Given the description of an element on the screen output the (x, y) to click on. 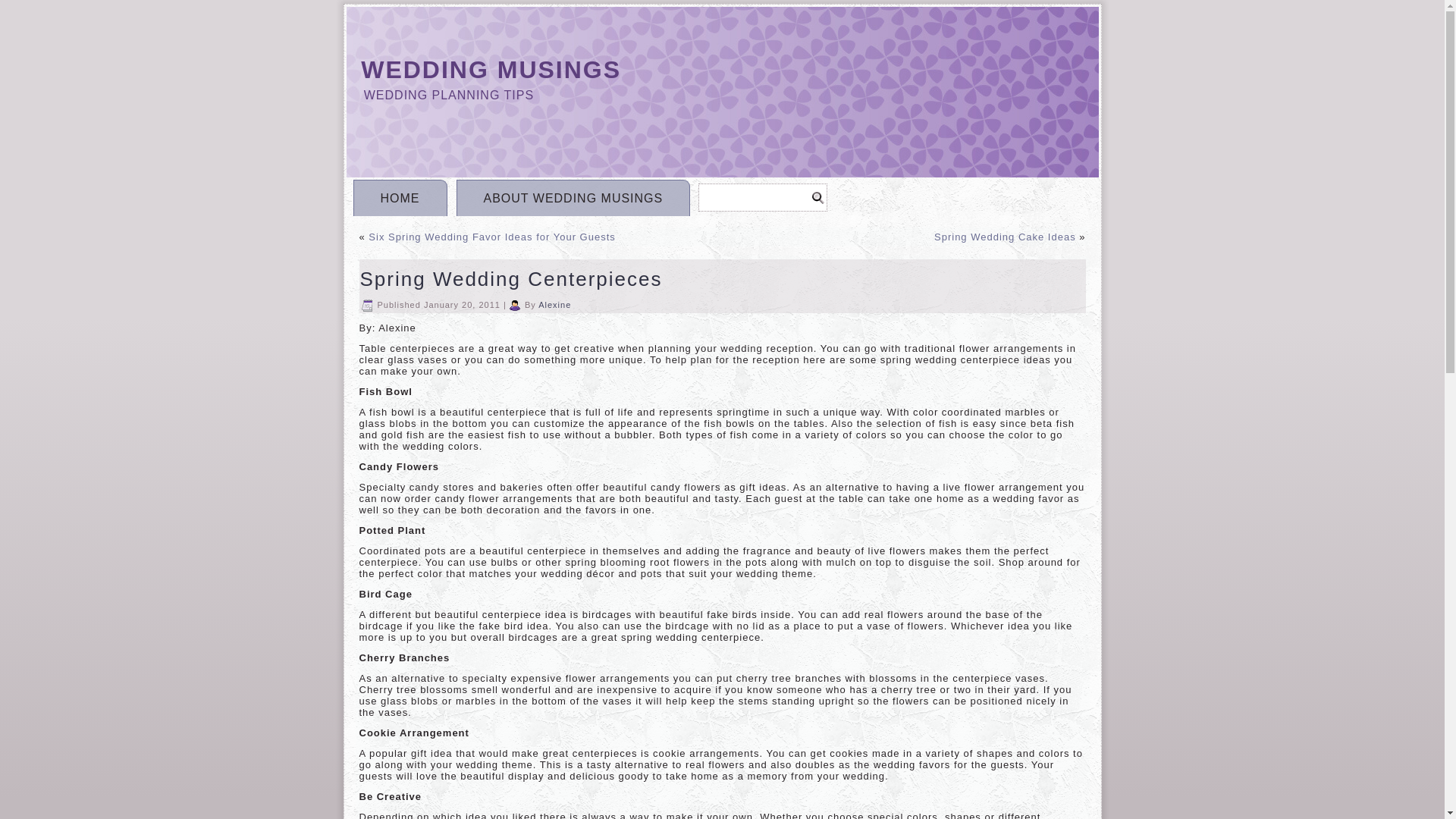
About Wedding Musings (573, 197)
HOME (399, 197)
Spring Wedding Cake Ideas (1004, 236)
Six Spring Wedding Favor Ideas for Your Guests (491, 236)
Alexine (554, 304)
ABOUT WEDDING MUSINGS (573, 197)
Six Spring Wedding Favor Ideas for Your Guests (491, 236)
7:43 pm (461, 304)
Spring Wedding Cake Ideas (1004, 236)
Home (399, 197)
